Given the description of an element on the screen output the (x, y) to click on. 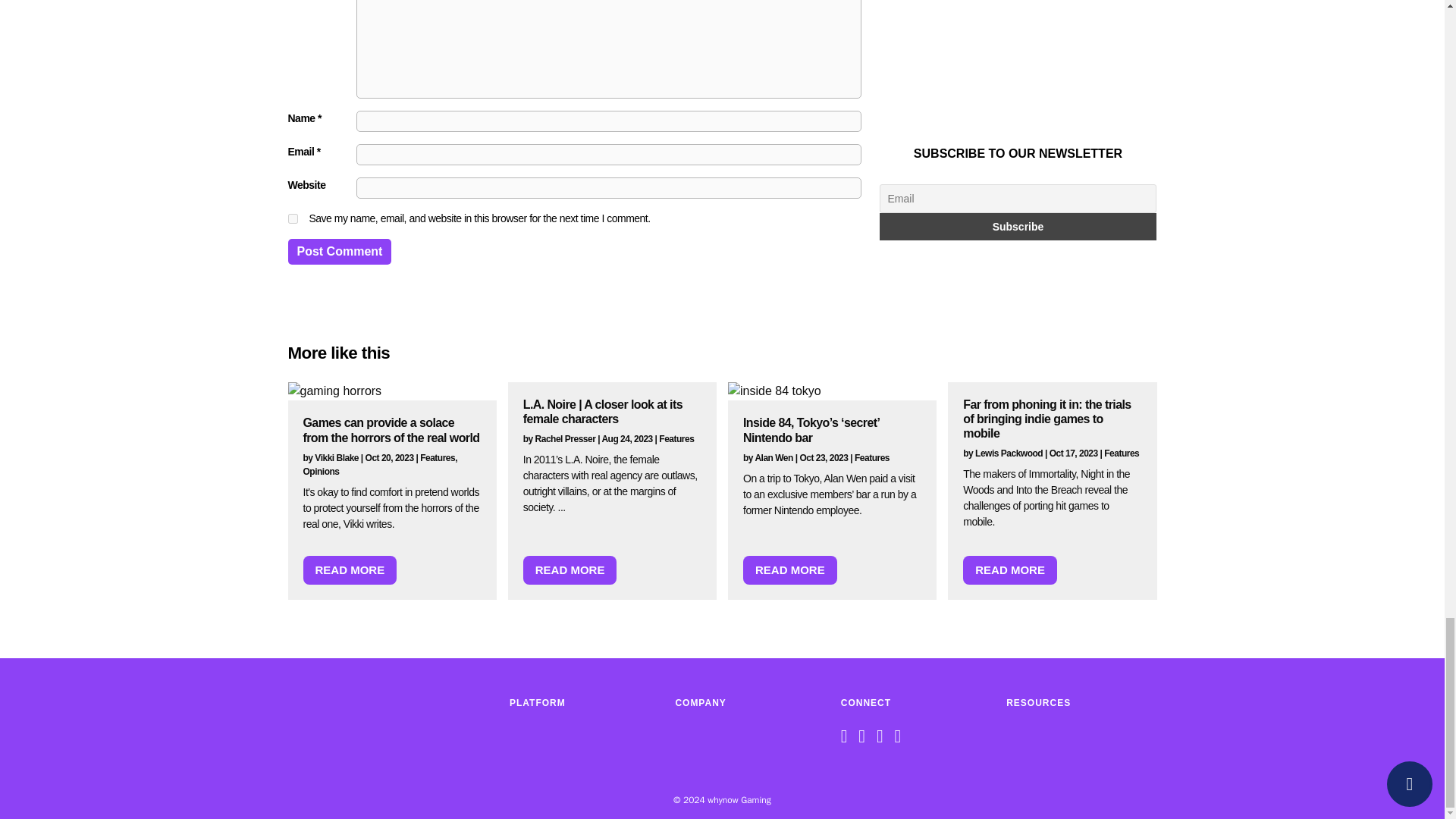
Follow us on Instagram (883, 738)
Follow us on Threads (900, 738)
Post Comment (339, 251)
Follow us on Facebook (848, 738)
Post Comment (339, 251)
Follow us on Twitter (865, 738)
yes (293, 218)
